Given the description of an element on the screen output the (x, y) to click on. 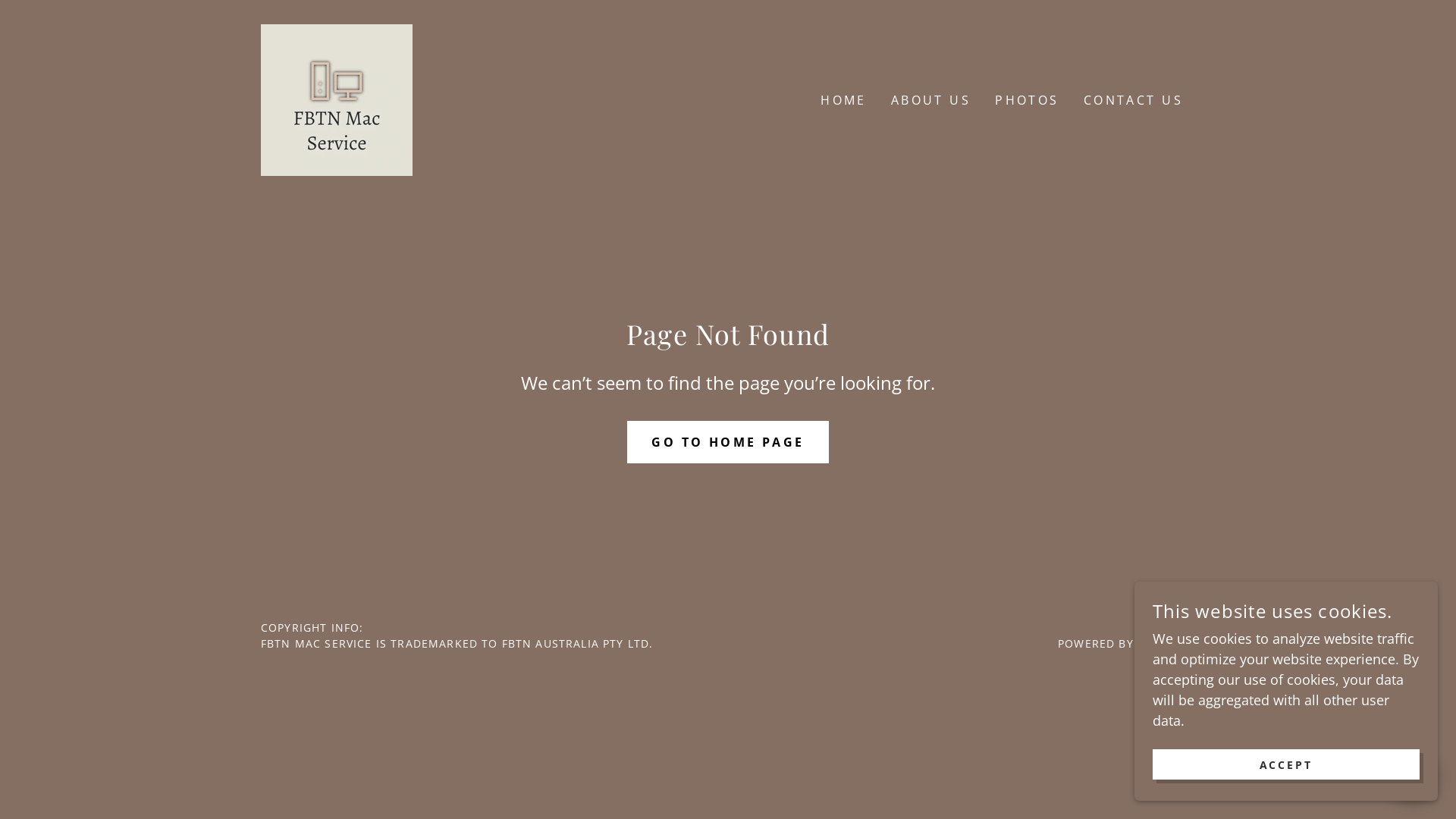
HOME Element type: text (843, 99)
PHOTOS Element type: text (1026, 99)
CONTACT US Element type: text (1133, 99)
Welcome to FBTN Mac Service Element type: hover (336, 98)
GODADDY Element type: text (1166, 643)
GO TO HOME PAGE Element type: text (727, 441)
ABOUT US Element type: text (930, 99)
ACCEPT Element type: text (1285, 764)
